Given the description of an element on the screen output the (x, y) to click on. 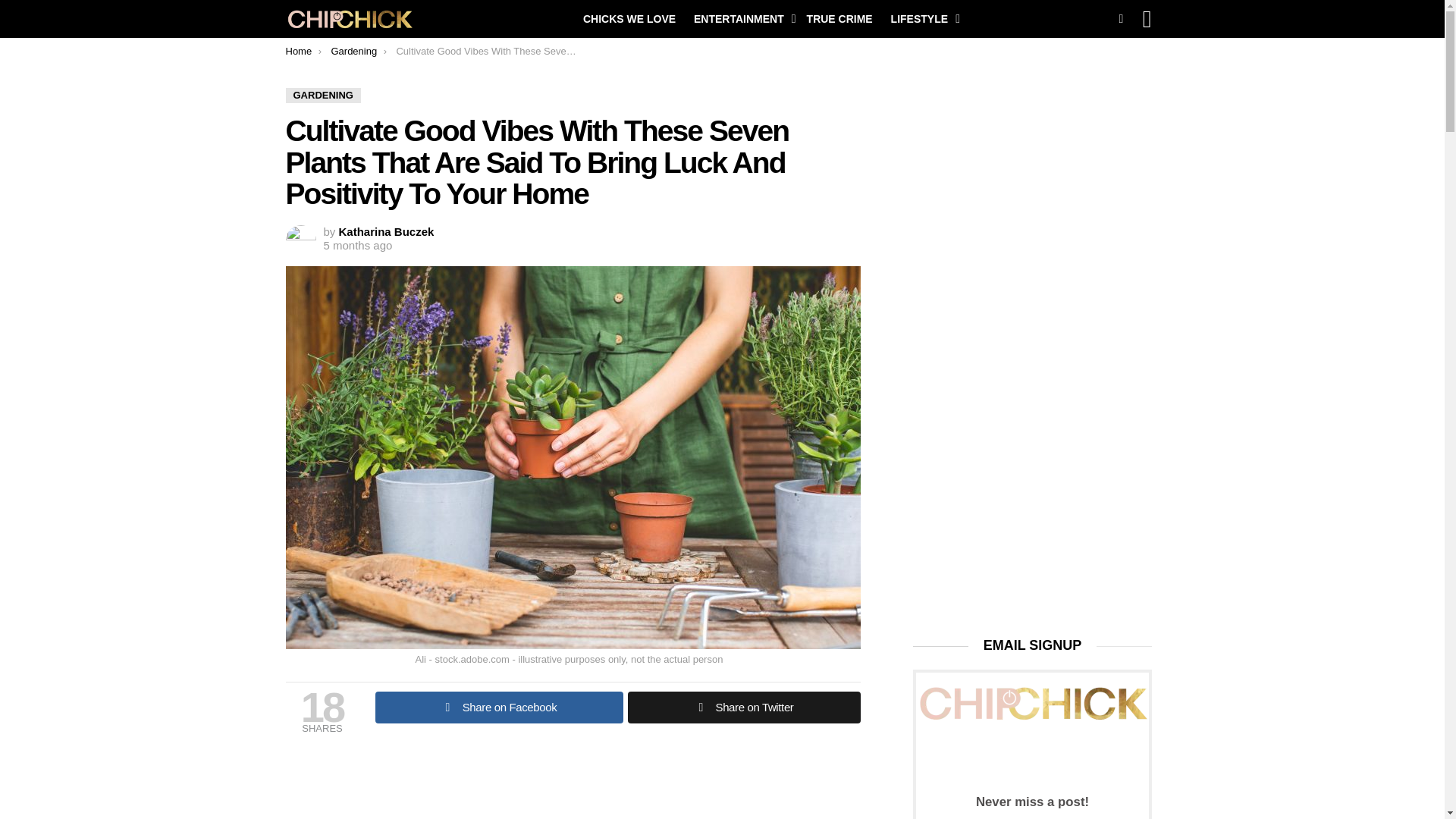
GARDENING (322, 95)
Gardening (353, 50)
TRUE CRIME (839, 18)
Posts by Katharina Buczek (386, 231)
Share on Facebook (498, 707)
LIFESTYLE (921, 18)
ENTERTAINMENT (740, 18)
Home (298, 50)
Katharina Buczek (386, 231)
Share on Twitter (743, 707)
